Given the description of an element on the screen output the (x, y) to click on. 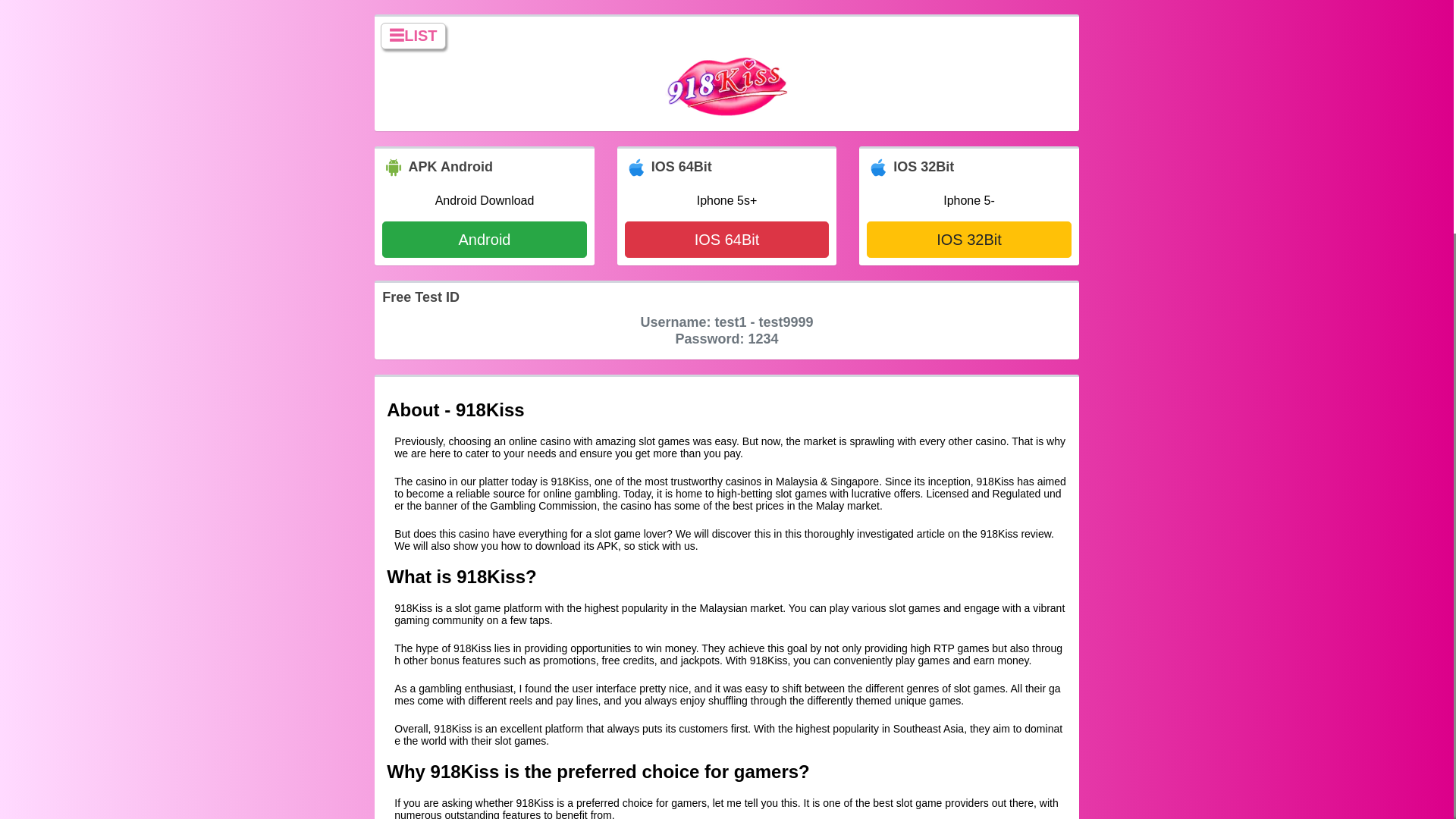
IOS 64Bit (726, 239)
IOS 32Bit (968, 239)
Android (483, 239)
